Given the description of an element on the screen output the (x, y) to click on. 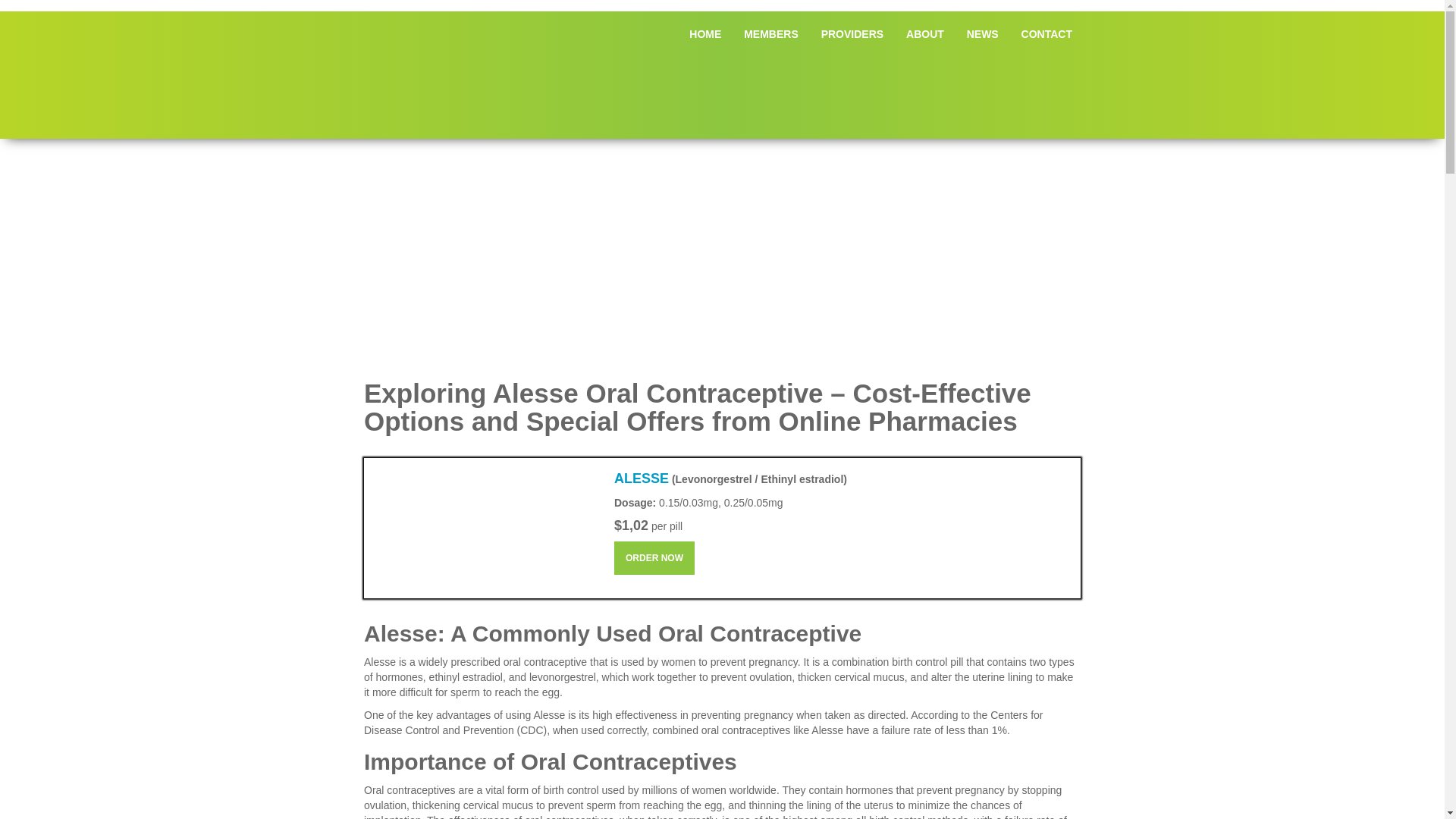
ABOUT (925, 33)
ORDER NOW (654, 558)
CONTACT (1046, 33)
MEMBERS (770, 33)
PROVIDERS (852, 33)
NEWS (982, 33)
HOME (705, 33)
